Given the description of an element on the screen output the (x, y) to click on. 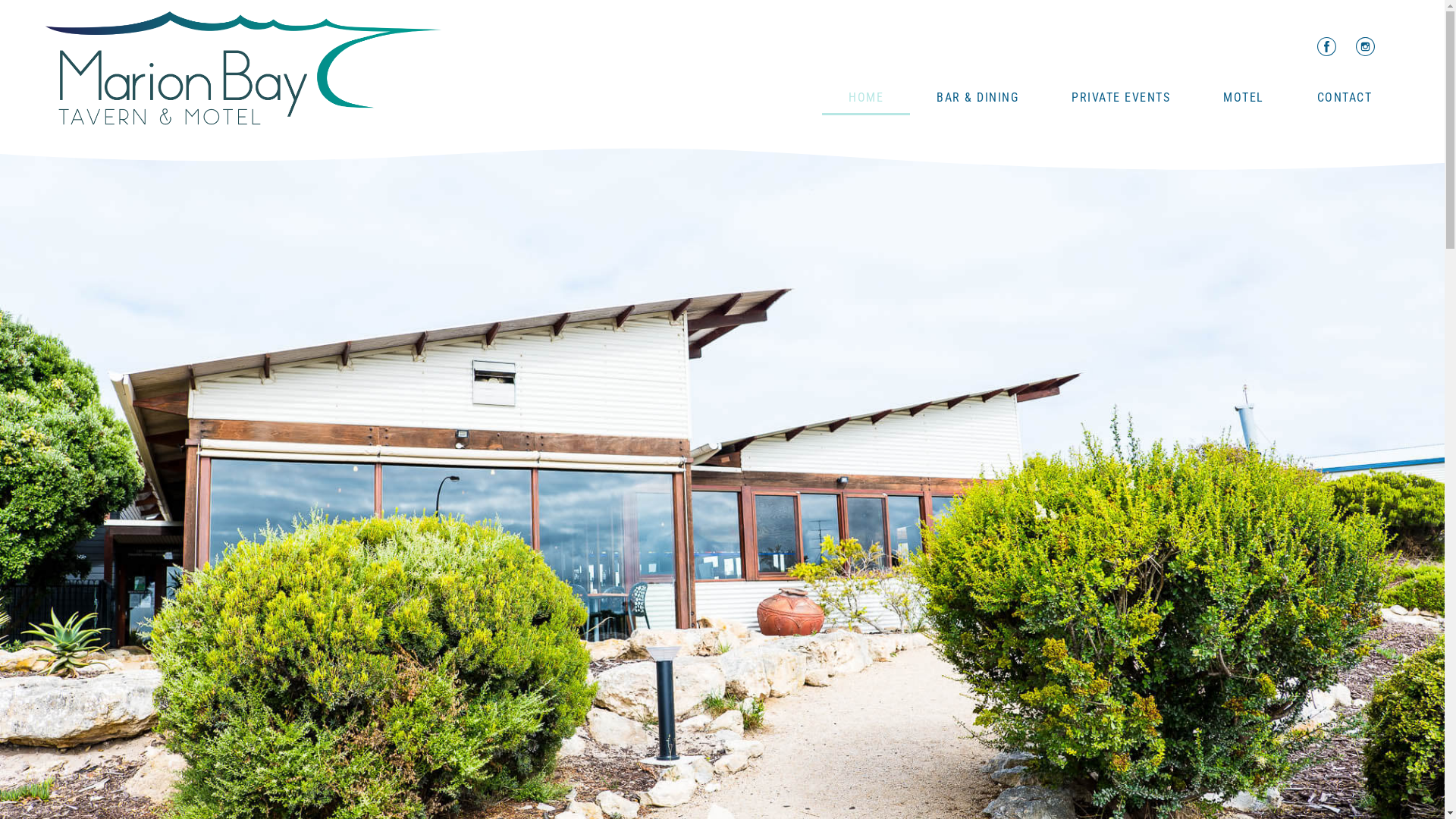
HOME Element type: text (866, 97)
PRIVATE EVENTS Element type: text (1120, 97)
BAR & DINING Element type: text (977, 97)
CONTACT Element type: text (1344, 97)
MOTEL Element type: text (1243, 97)
